Given the description of an element on the screen output the (x, y) to click on. 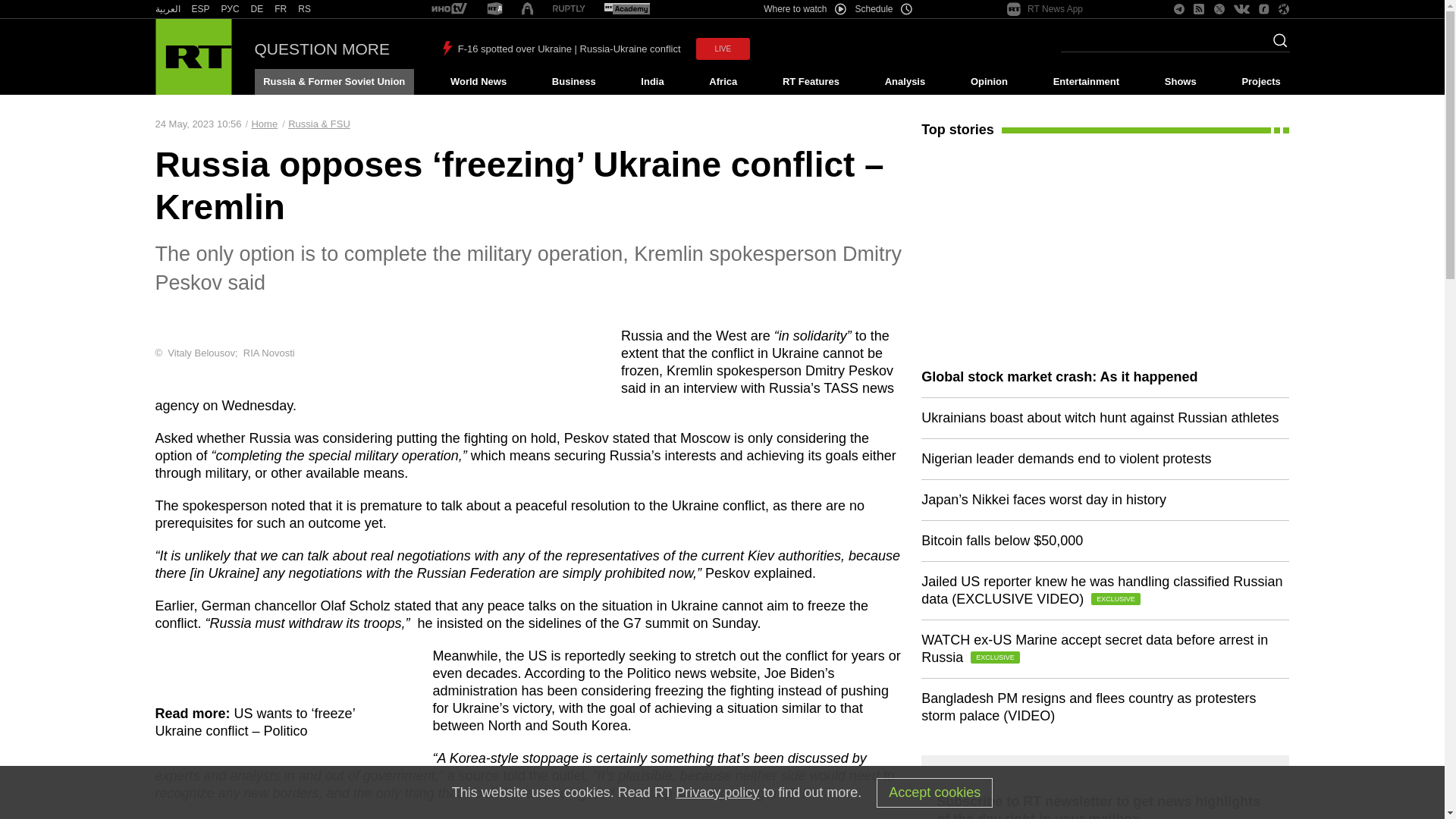
RT  (448, 9)
RT  (166, 9)
RT News App (1045, 9)
RT  (256, 9)
RT  (199, 9)
Schedule (884, 9)
Entertainment (1085, 81)
RT Features (810, 81)
Shows (1180, 81)
Projects (1261, 81)
Search (1276, 44)
RT  (230, 9)
LIVE (723, 48)
Where to watch (803, 9)
World News (478, 81)
